Given the description of an element on the screen output the (x, y) to click on. 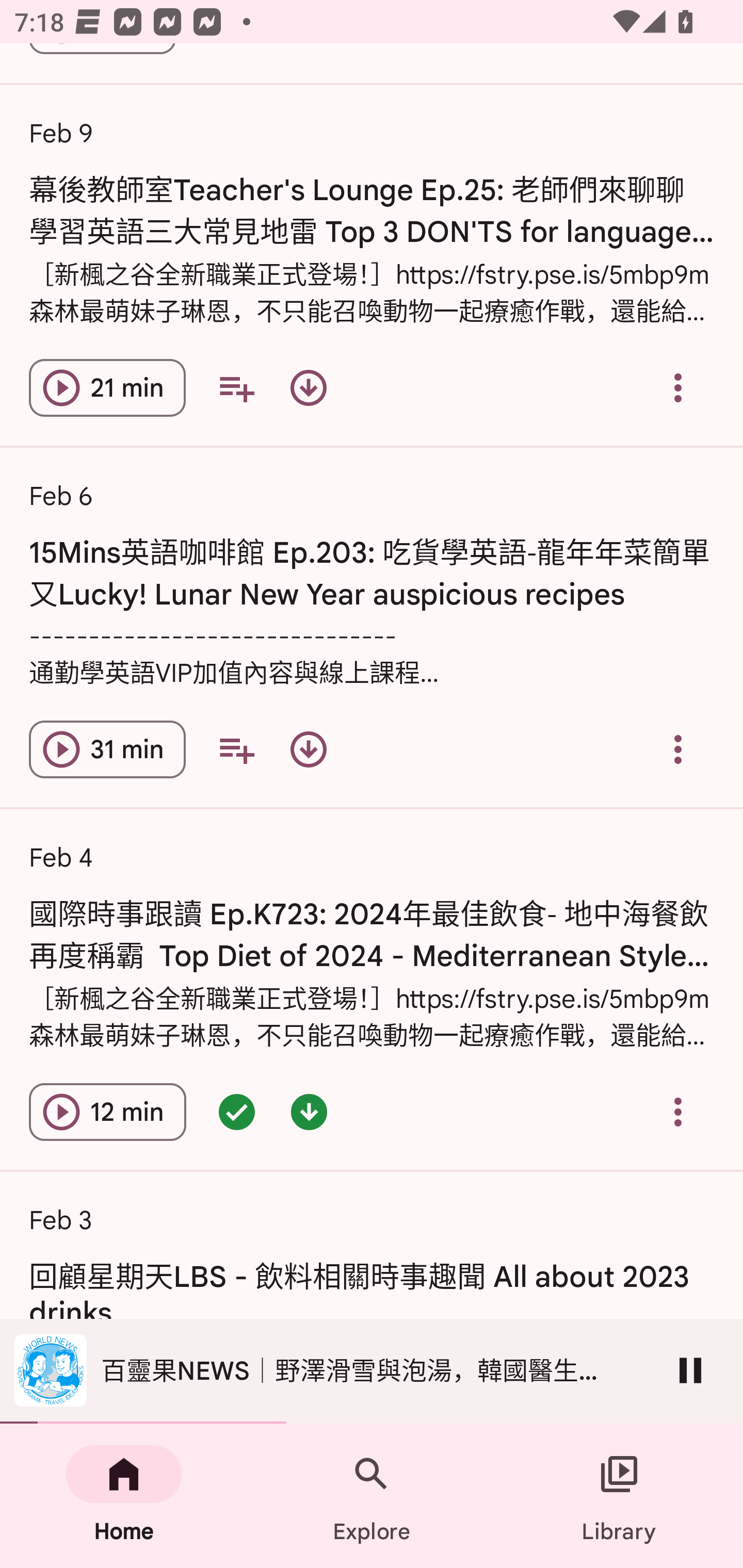
Add to your queue (235, 387)
Download episode (308, 387)
Overflow menu (677, 387)
Add to your queue (235, 749)
Download episode (308, 749)
Overflow menu (677, 749)
Episode queued - double tap for options (236, 1112)
Episode downloaded - double tap for options 0.0 (308, 1112)
Overflow menu (677, 1112)
Pause (690, 1370)
Explore (371, 1495)
Library (619, 1495)
